Given the description of an element on the screen output the (x, y) to click on. 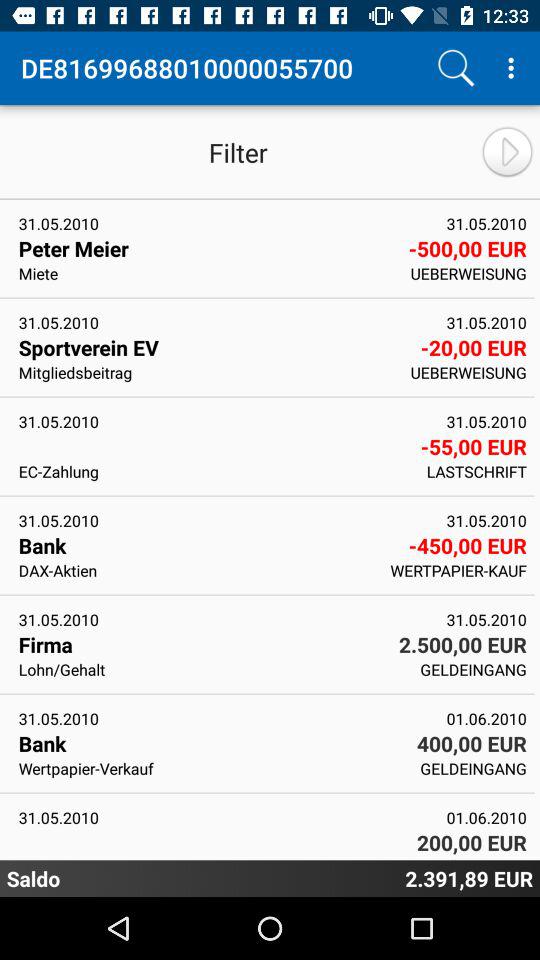
jump to lohn/gehalt (212, 669)
